Given the description of an element on the screen output the (x, y) to click on. 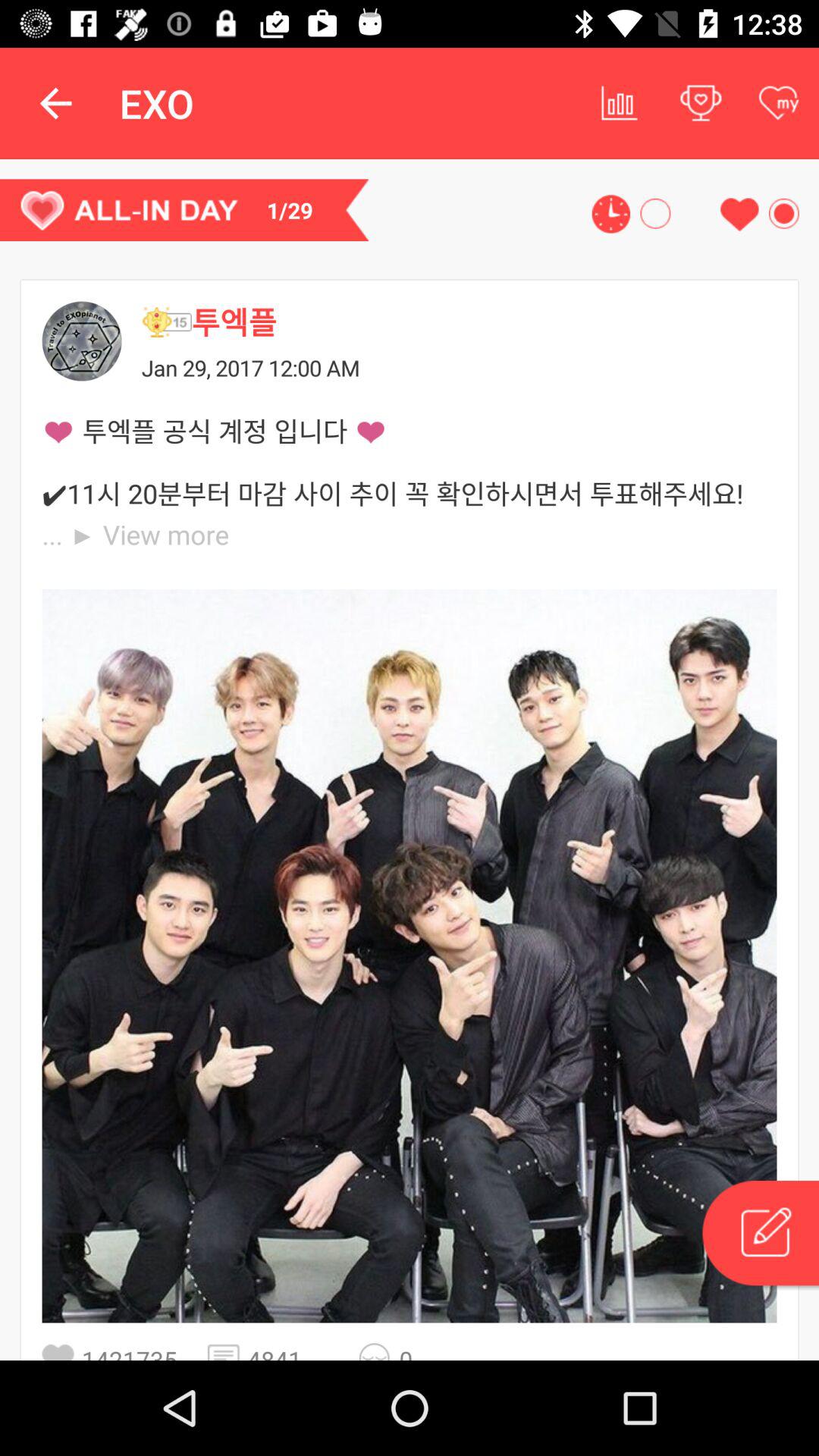
turn on the item to the left of exo item (55, 103)
